Given the description of an element on the screen output the (x, y) to click on. 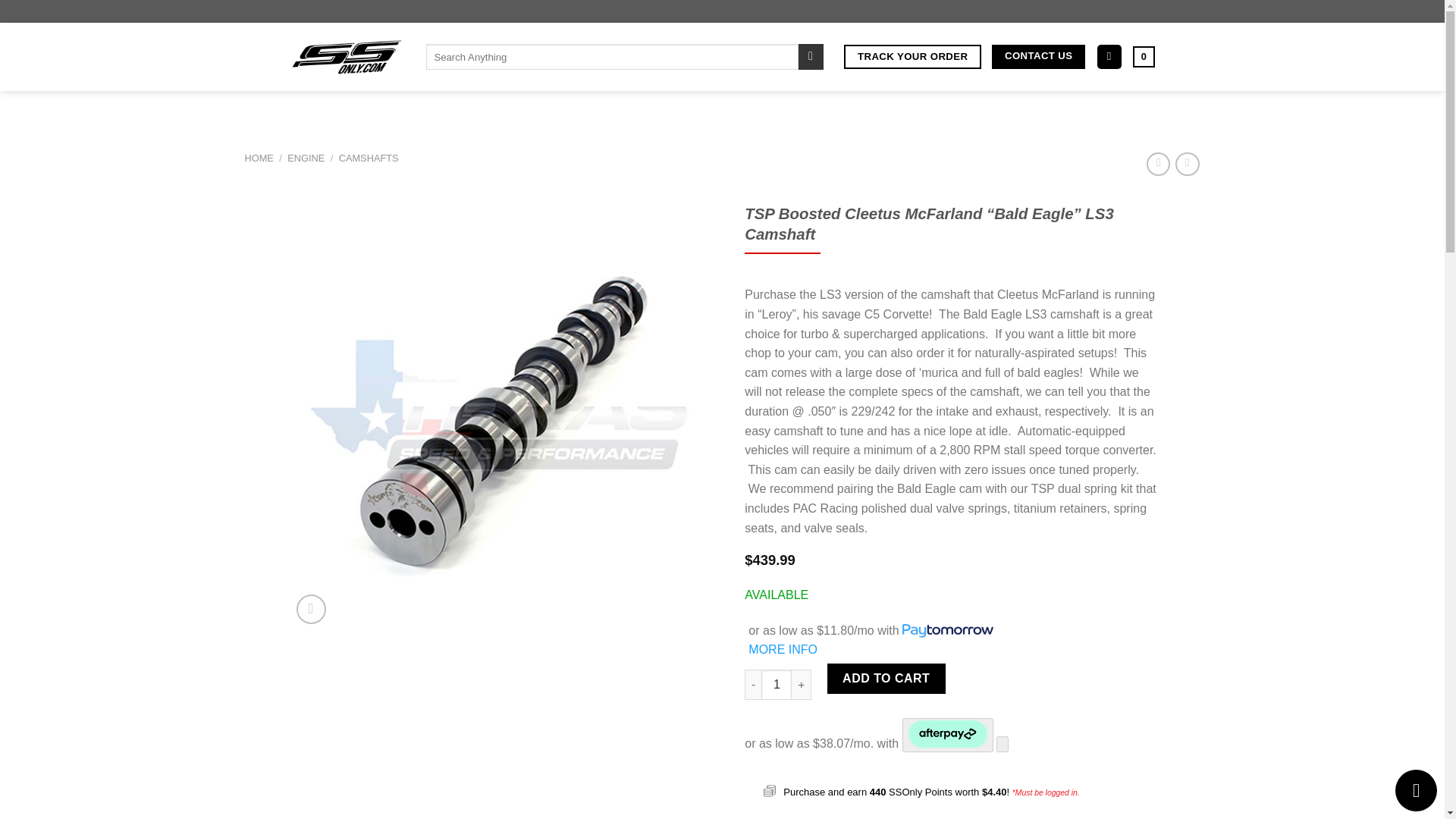
1 (776, 684)
TRACK YOUR ORDER (912, 57)
Search (810, 56)
CAMSHAFTS (368, 157)
ENGINE (305, 157)
CONTACT US (1037, 57)
MORE INFO (782, 649)
ADD TO CART (885, 678)
HOME (258, 157)
Zoom (311, 609)
